Given the description of an element on the screen output the (x, y) to click on. 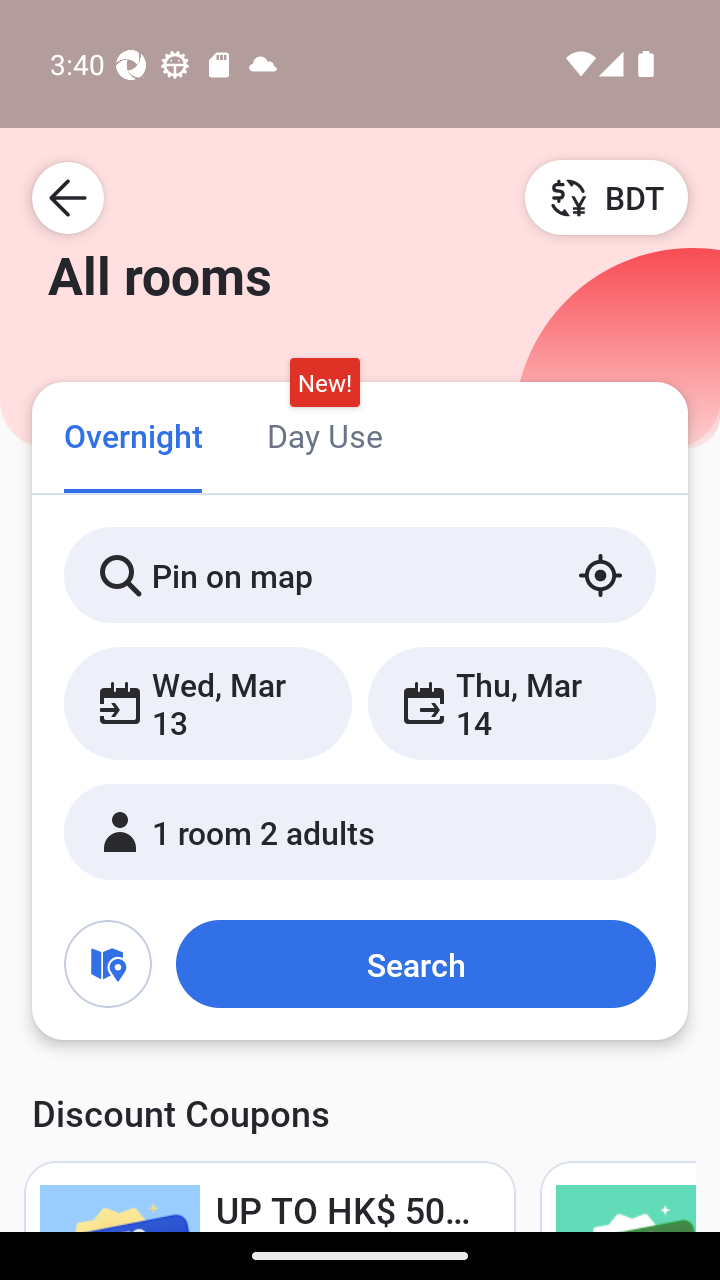
BDT (606, 197)
New! (324, 383)
Day Use (324, 434)
Pin on map (359, 575)
Wed, Mar 13 (208, 703)
Thu, Mar 14 (511, 703)
1 room 2 adults (359, 831)
Search (415, 964)
